Given the description of an element on the screen output the (x, y) to click on. 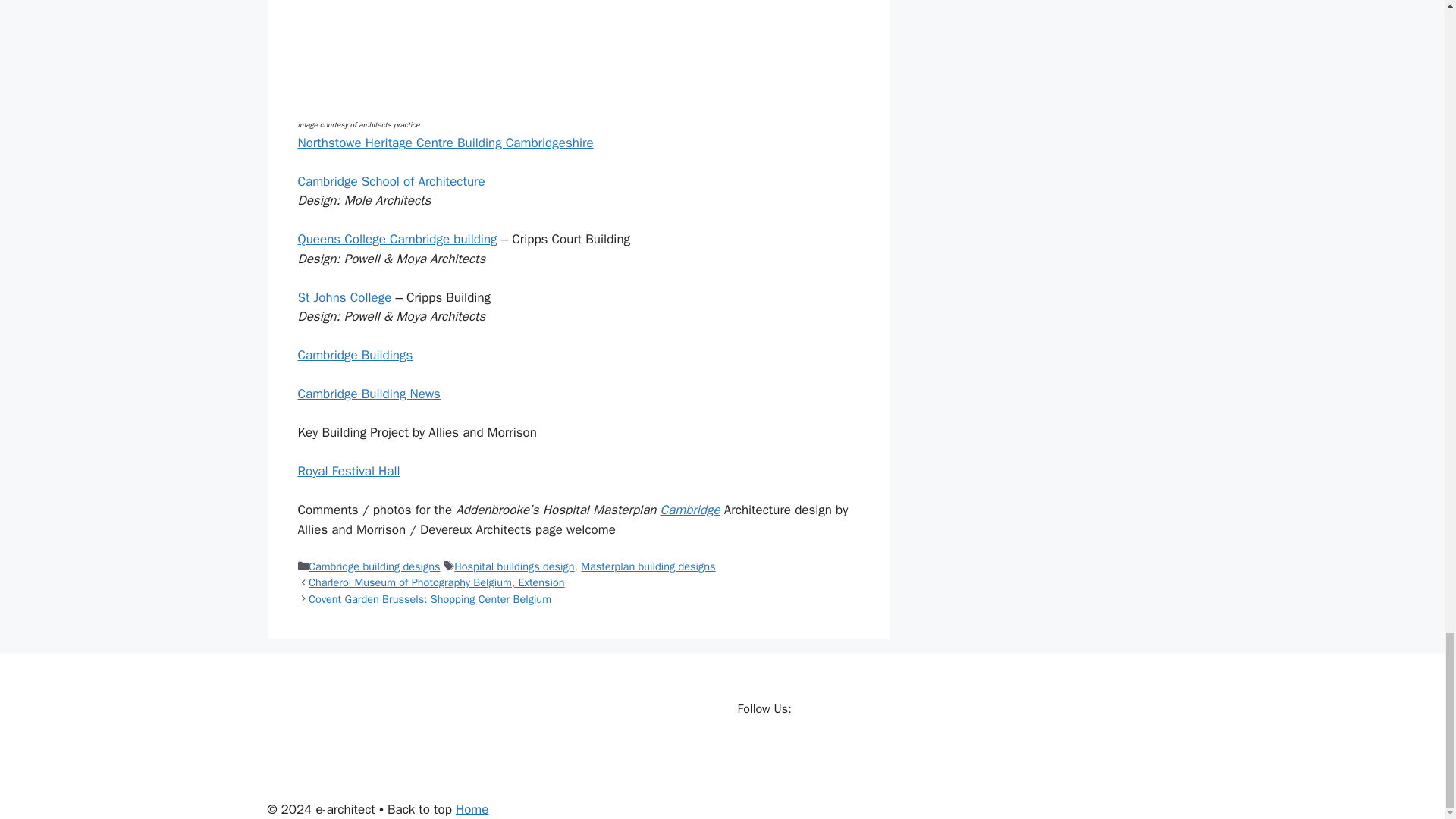
twitter (781, 750)
instagram (842, 750)
Queens College Cambridge building (396, 238)
Northstowe Heritage Centre Building Cambridgeshire (444, 142)
St Johns College (344, 297)
linkedin (811, 750)
facebook (749, 750)
Cambridge School of Architecture (390, 181)
